Given the description of an element on the screen output the (x, y) to click on. 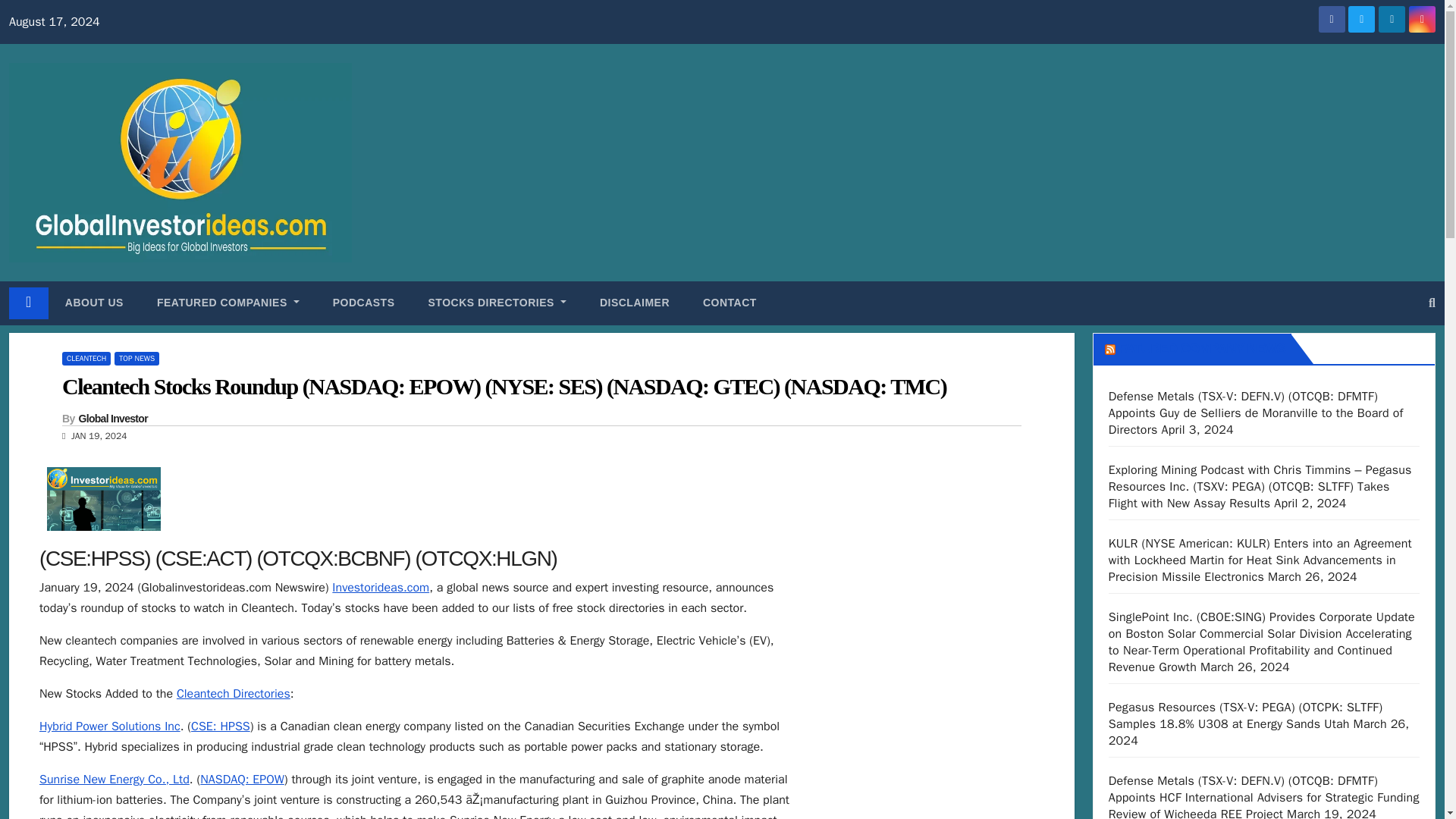
Stocks Directories (497, 302)
Podcasts (363, 302)
ABOUT US (93, 302)
CLEANTECH (86, 358)
FEATURED COMPANIES (227, 302)
Featured Companies (227, 302)
PODCASTS (363, 302)
TOP NEWS (136, 358)
STOCKS DIRECTORIES (497, 302)
About us (93, 302)
